Given the description of an element on the screen output the (x, y) to click on. 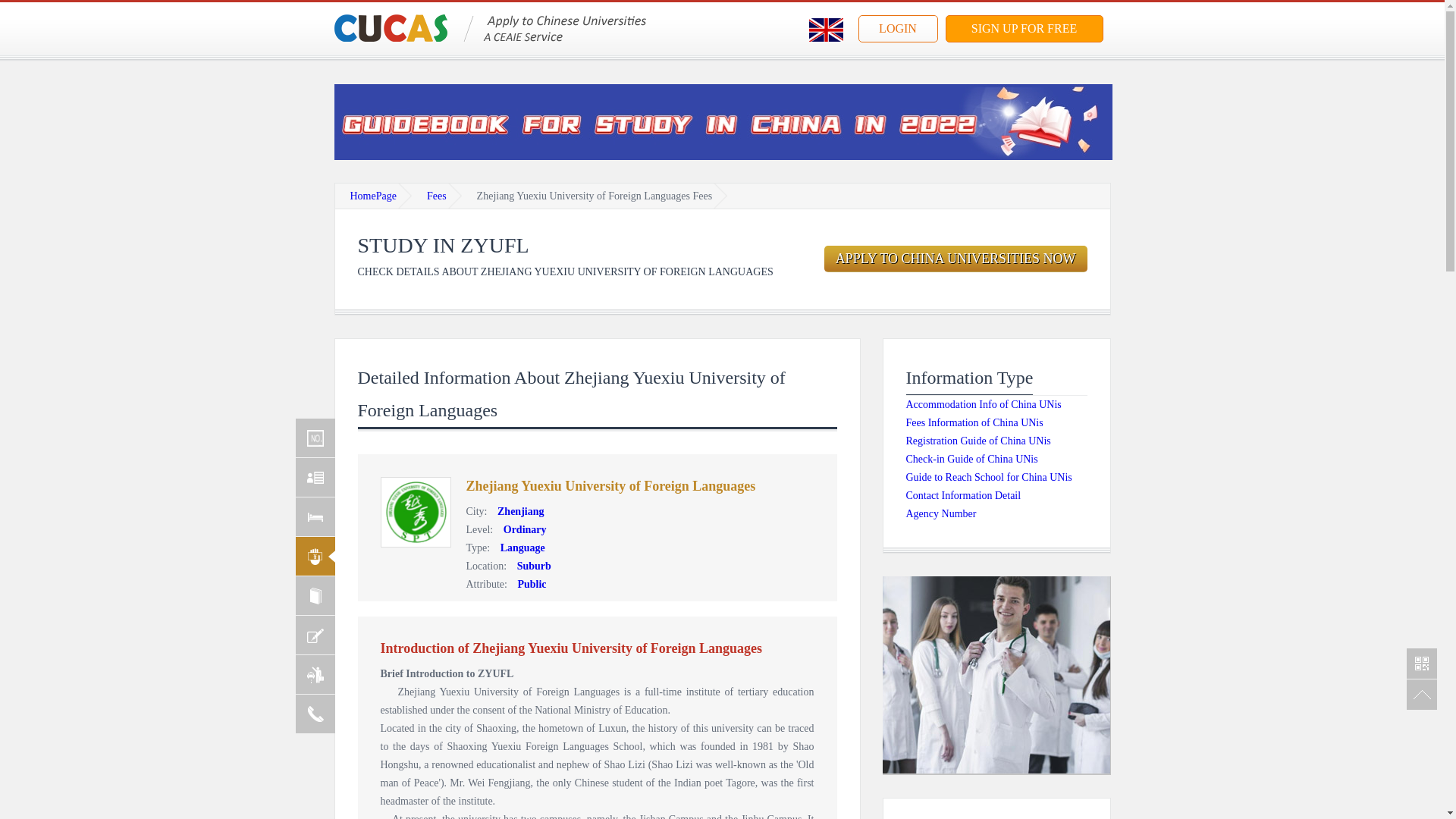
Fees (314, 556)
Check-in Guide of China UNis (970, 459)
Registration Guide of China UNis (977, 440)
SIGN UP FOR FREE (1024, 28)
Agency Number (940, 513)
Registration Guide (314, 595)
LOGIN (898, 28)
Accommodation Info of China UNis (983, 404)
Accommodation (314, 516)
Fees Information of China UNis (973, 422)
Admission (314, 476)
Ordinary (521, 529)
APPLY TO CHINA UNIVERSITIES NOW (955, 258)
Public (527, 583)
Fees (436, 195)
